Given the description of an element on the screen output the (x, y) to click on. 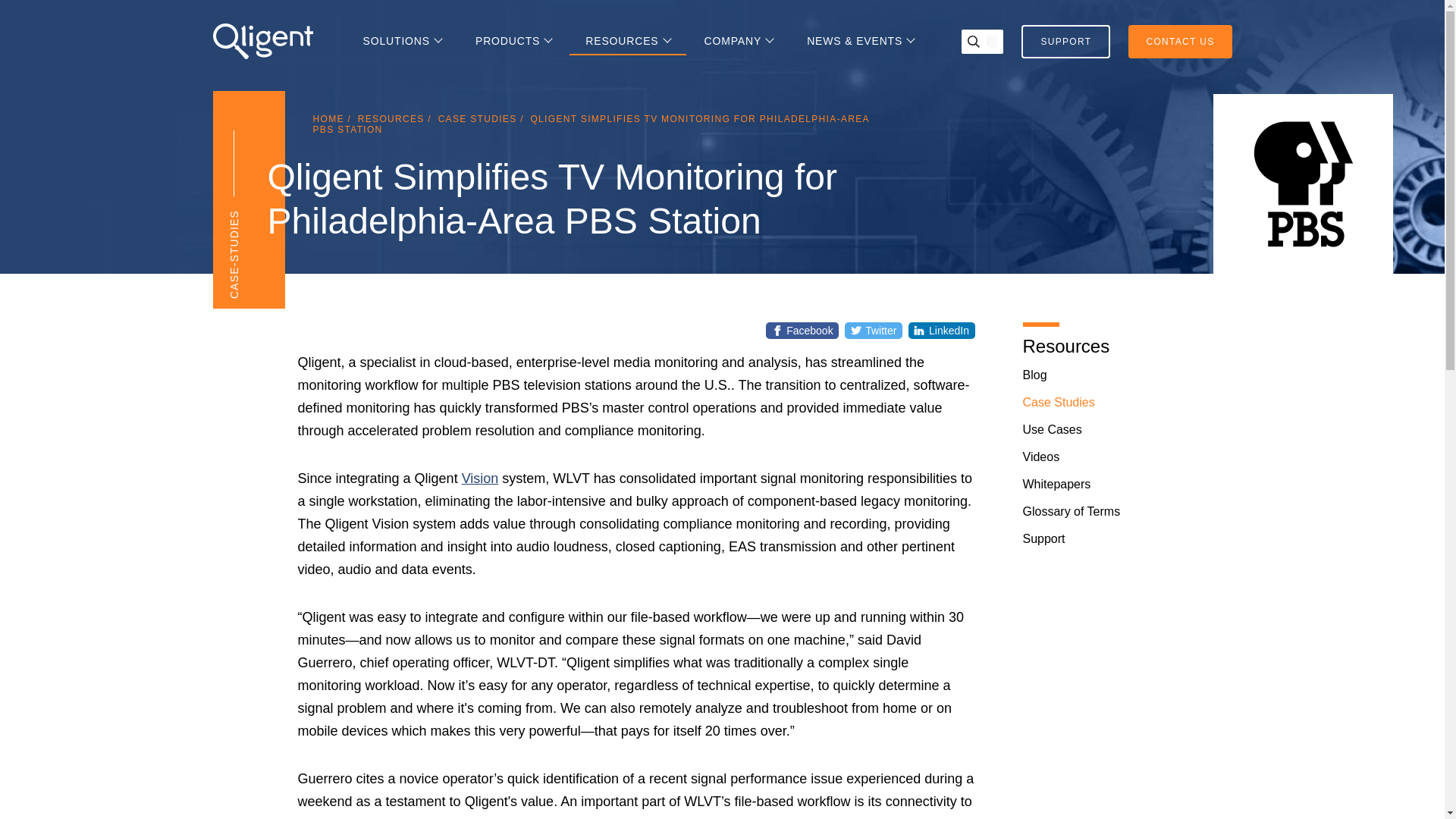
COMPANY (738, 41)
RESOURCES (628, 41)
PRODUCTS (512, 41)
SOLUTIONS (402, 41)
